Given the description of an element on the screen output the (x, y) to click on. 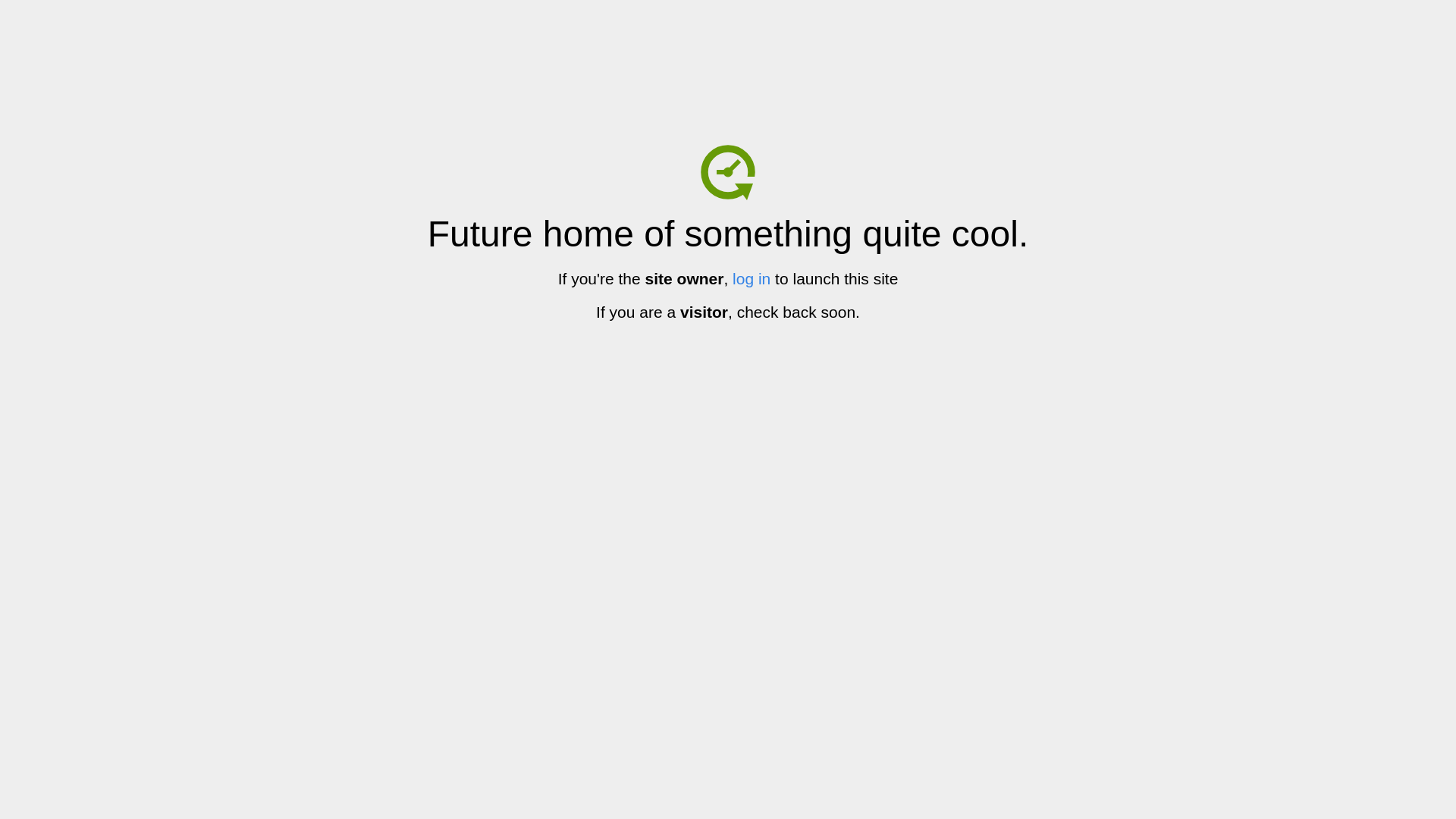
log in Element type: text (751, 278)
